Given the description of an element on the screen output the (x, y) to click on. 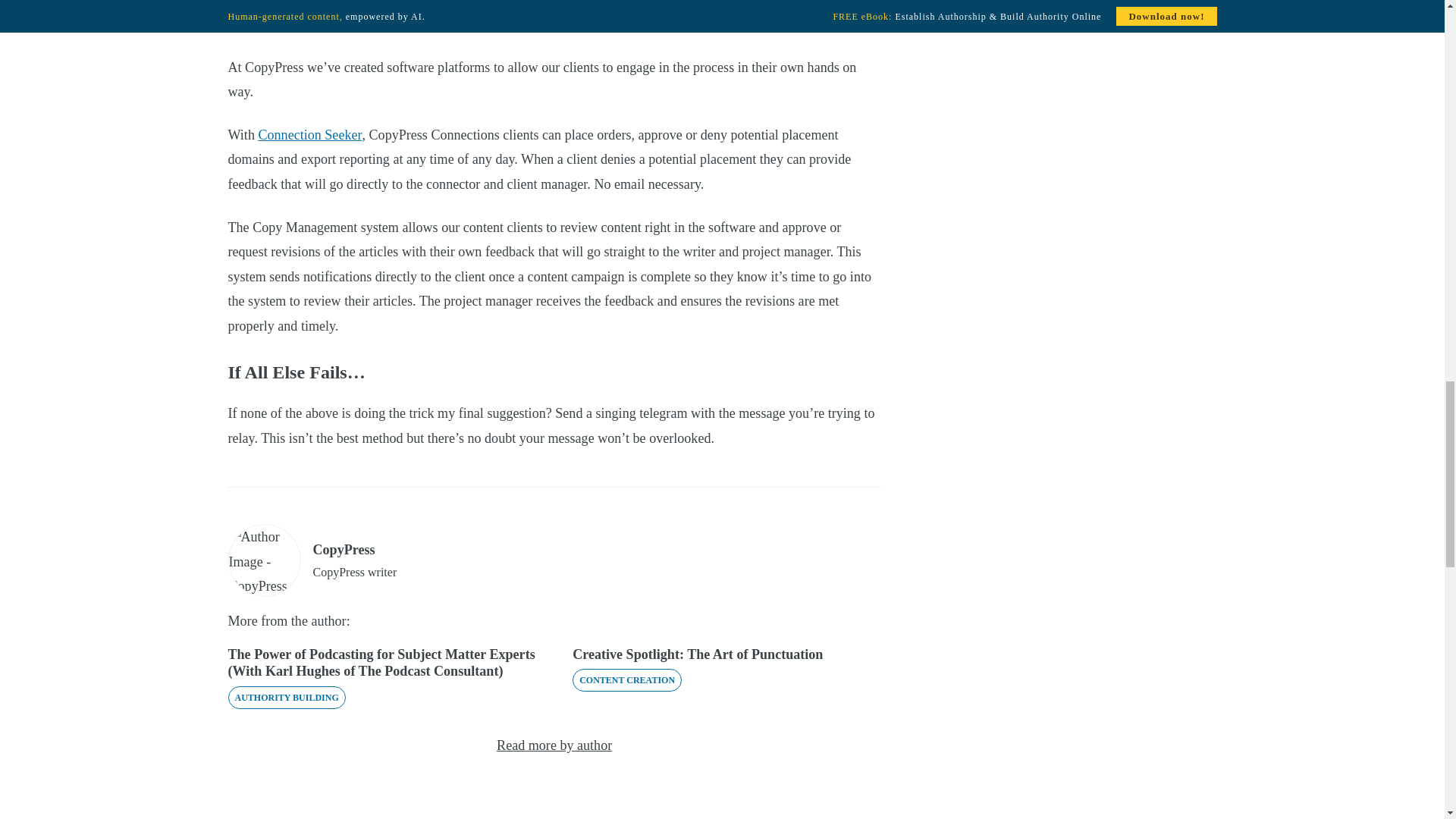
Connection Seeker (309, 134)
AUTHORITY BUILDING (286, 697)
Read more by author (553, 744)
Creative Spotlight: The Art of Punctuation (697, 654)
CONTENT CREATION (626, 680)
CopyPress (343, 549)
